Given the description of an element on the screen output the (x, y) to click on. 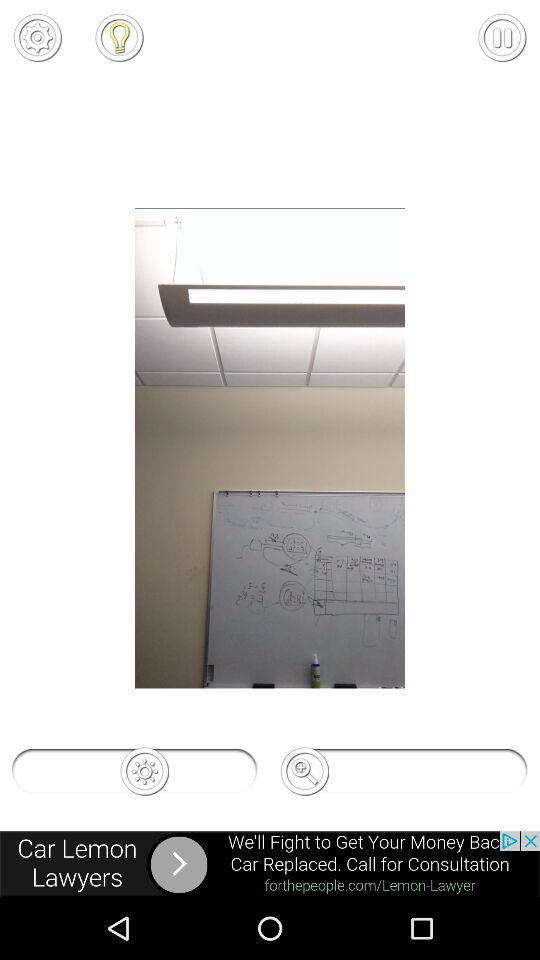
flash (119, 37)
